Given the description of an element on the screen output the (x, y) to click on. 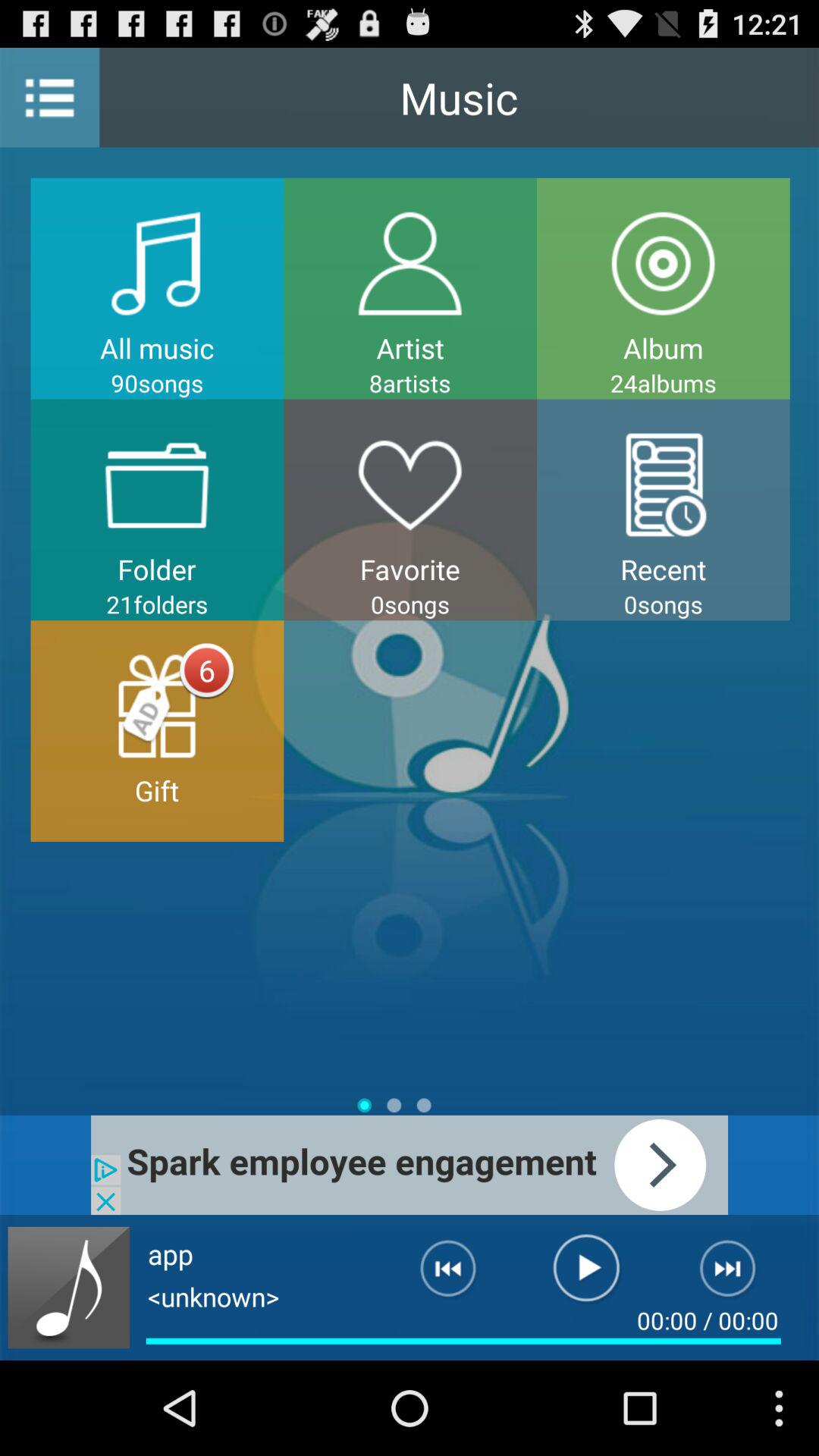
go to previous (436, 1274)
